Given the description of an element on the screen output the (x, y) to click on. 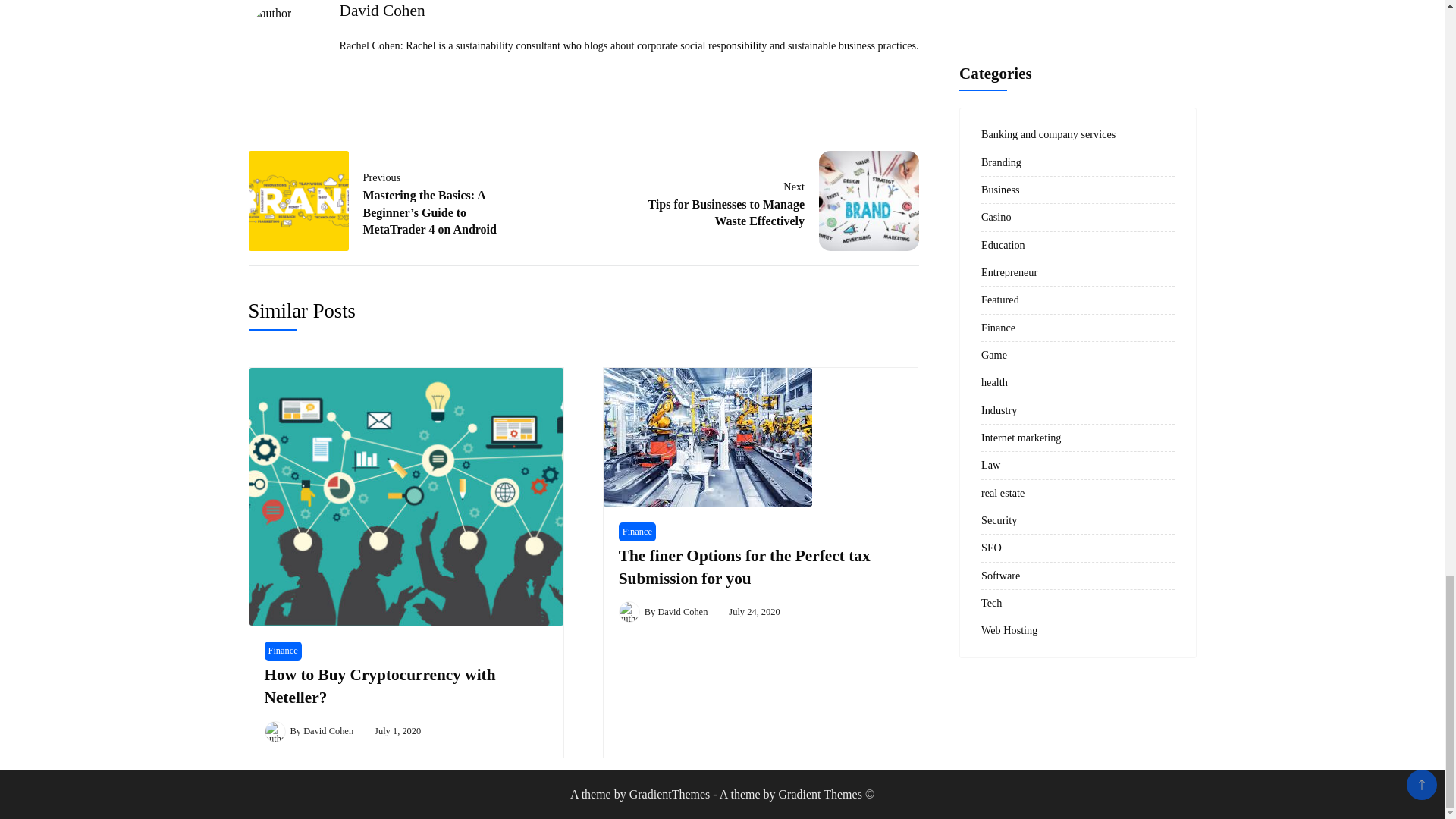
How to Buy Cryptocurrency with Neteller? (774, 200)
David Cohen (379, 685)
Finance (327, 730)
Finance (282, 650)
July 1, 2020 (637, 531)
